Given the description of an element on the screen output the (x, y) to click on. 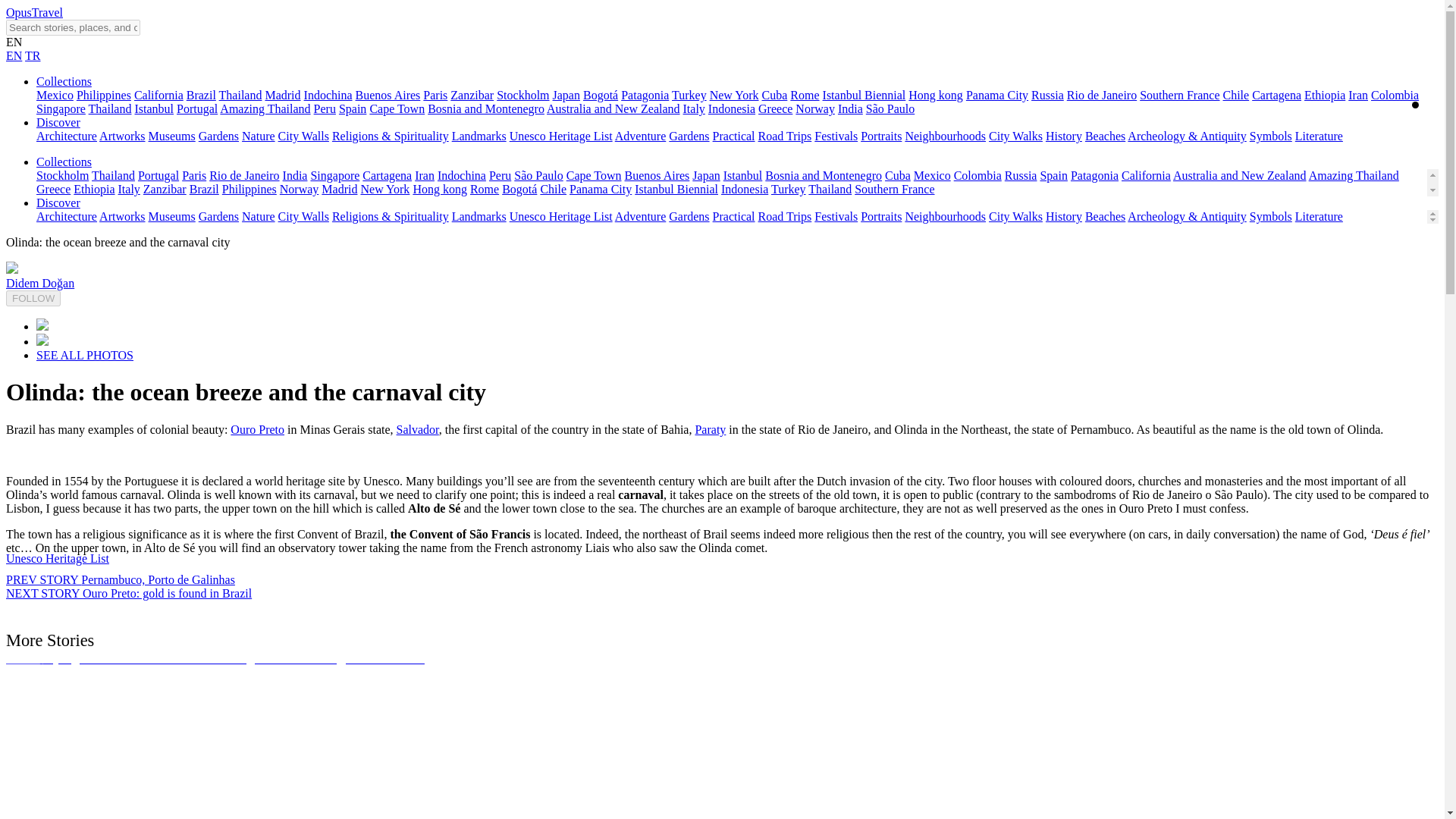
Indochina (328, 94)
Chile (1236, 94)
Rio de Janeiro (1102, 94)
Japan (566, 94)
Singapore (60, 108)
Madrid (281, 94)
Paris (434, 94)
Cuba (774, 94)
OpusTravel (33, 11)
Mexico (55, 94)
